Given the description of an element on the screen output the (x, y) to click on. 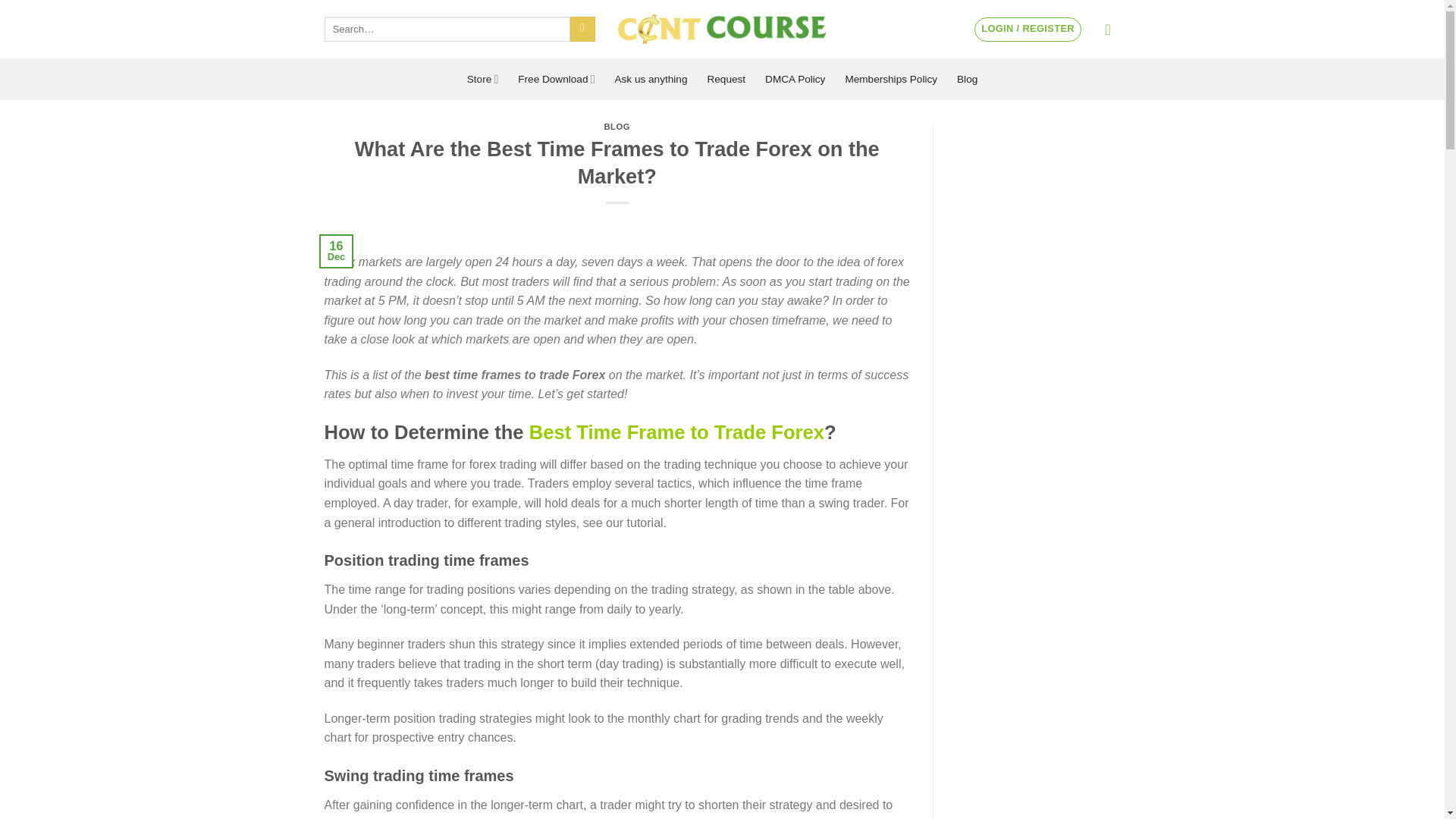
Search (582, 29)
Free Download (556, 79)
Store (483, 79)
